Given the description of an element on the screen output the (x, y) to click on. 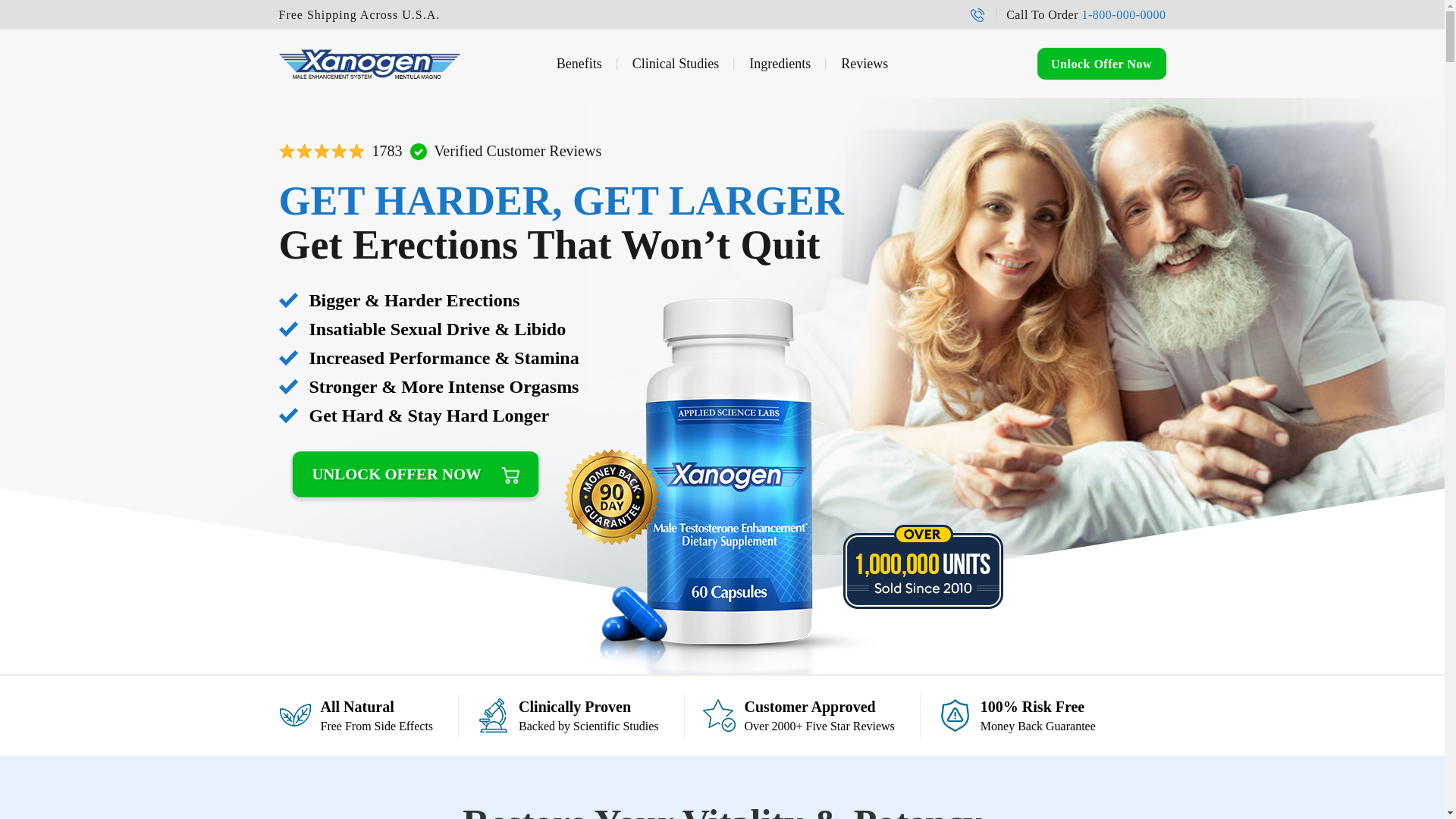
Reviews (721, 63)
Ingredients (864, 63)
Unlock Offer Now (779, 63)
1-800-000-0000 (1101, 63)
Benefits (1123, 14)
Clinical Studies (579, 63)
UNLOCK OFFER NOW (675, 63)
